Given the description of an element on the screen output the (x, y) to click on. 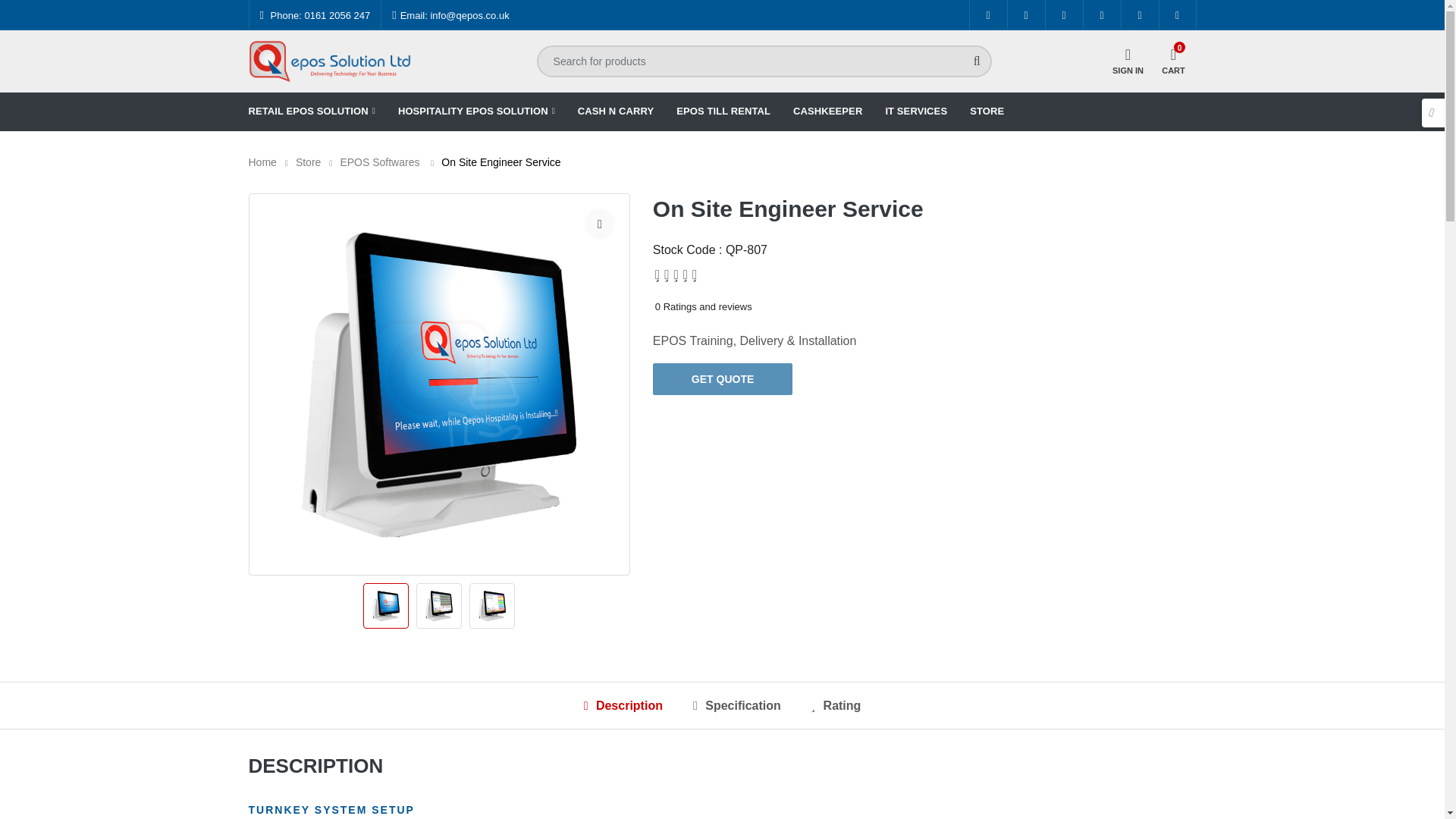
RETAIL EPOS SOLUTION (311, 111)
0161 2056 247 (336, 14)
CASHKEEPER (827, 111)
CASH N CARRY (615, 111)
Home (262, 162)
EPOS TILL RENTAL (723, 111)
IT SERVICES (916, 111)
Zoom (599, 223)
Store (307, 162)
EPOS Softwares (379, 162)
HOSPITALITY EPOS SOLUTION (475, 111)
